Given the description of an element on the screen output the (x, y) to click on. 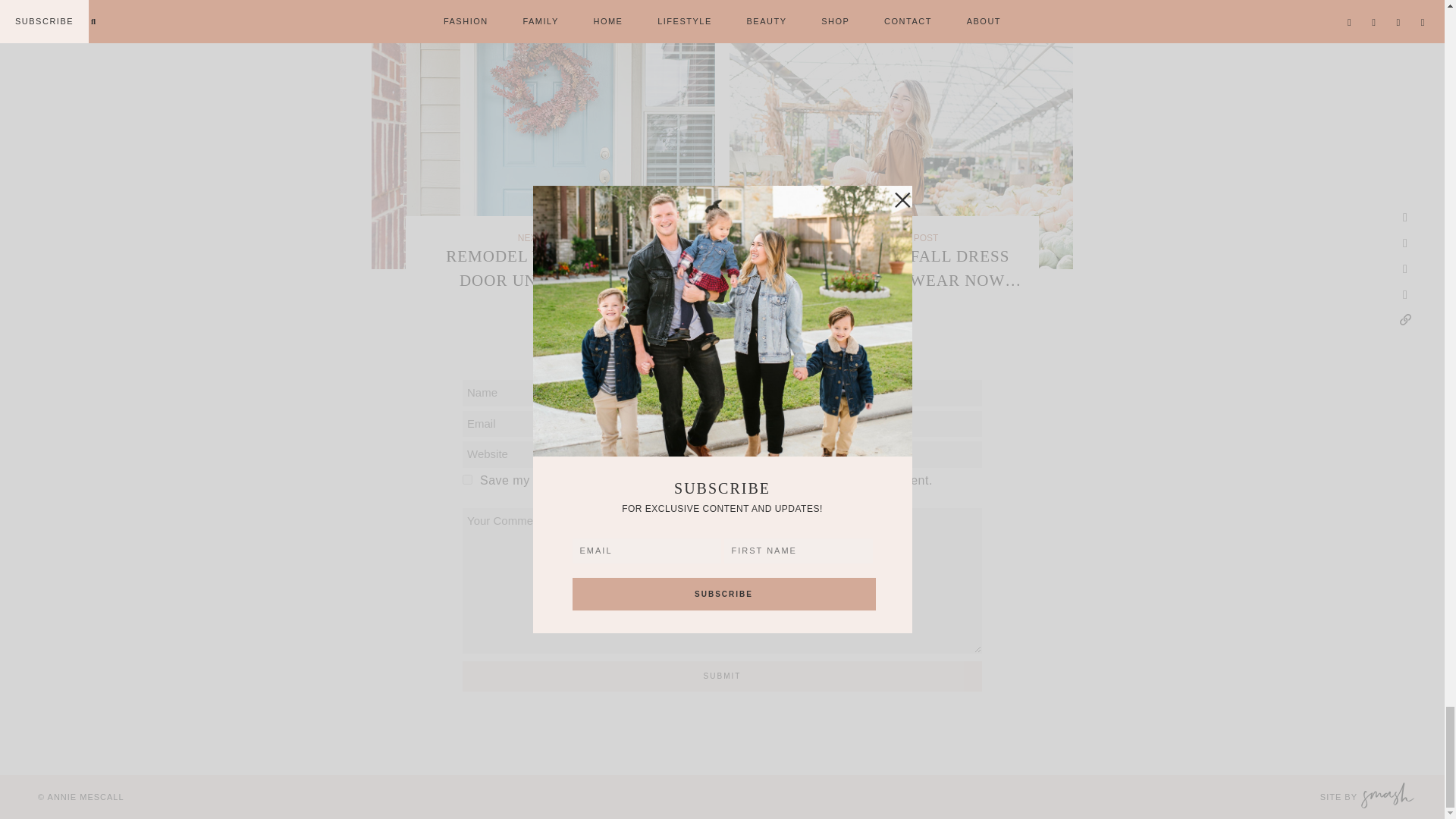
Submit (722, 675)
yes (467, 479)
